Given the description of an element on the screen output the (x, y) to click on. 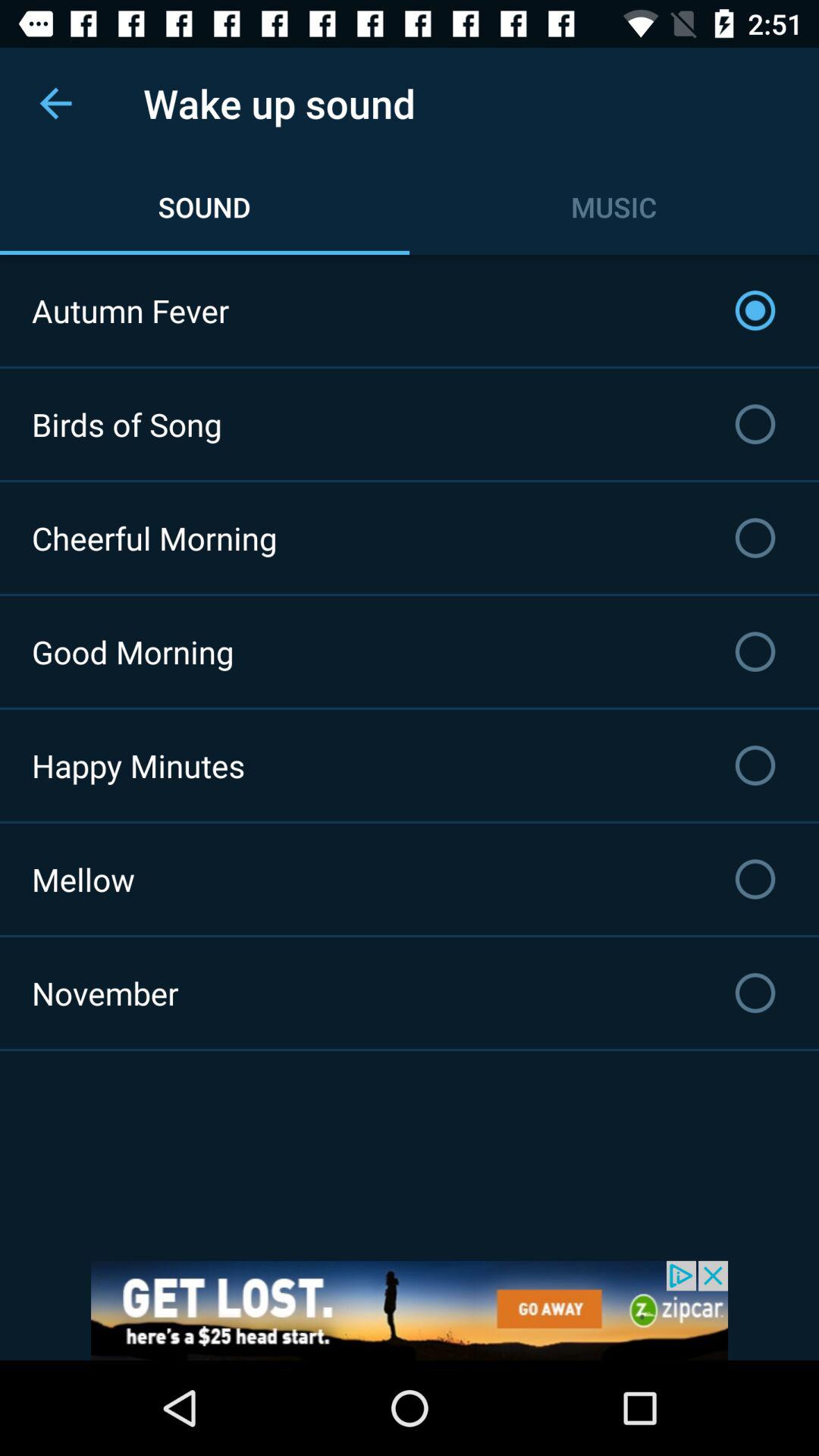
tap the item above autumn fever item (55, 103)
